Given the description of an element on the screen output the (x, y) to click on. 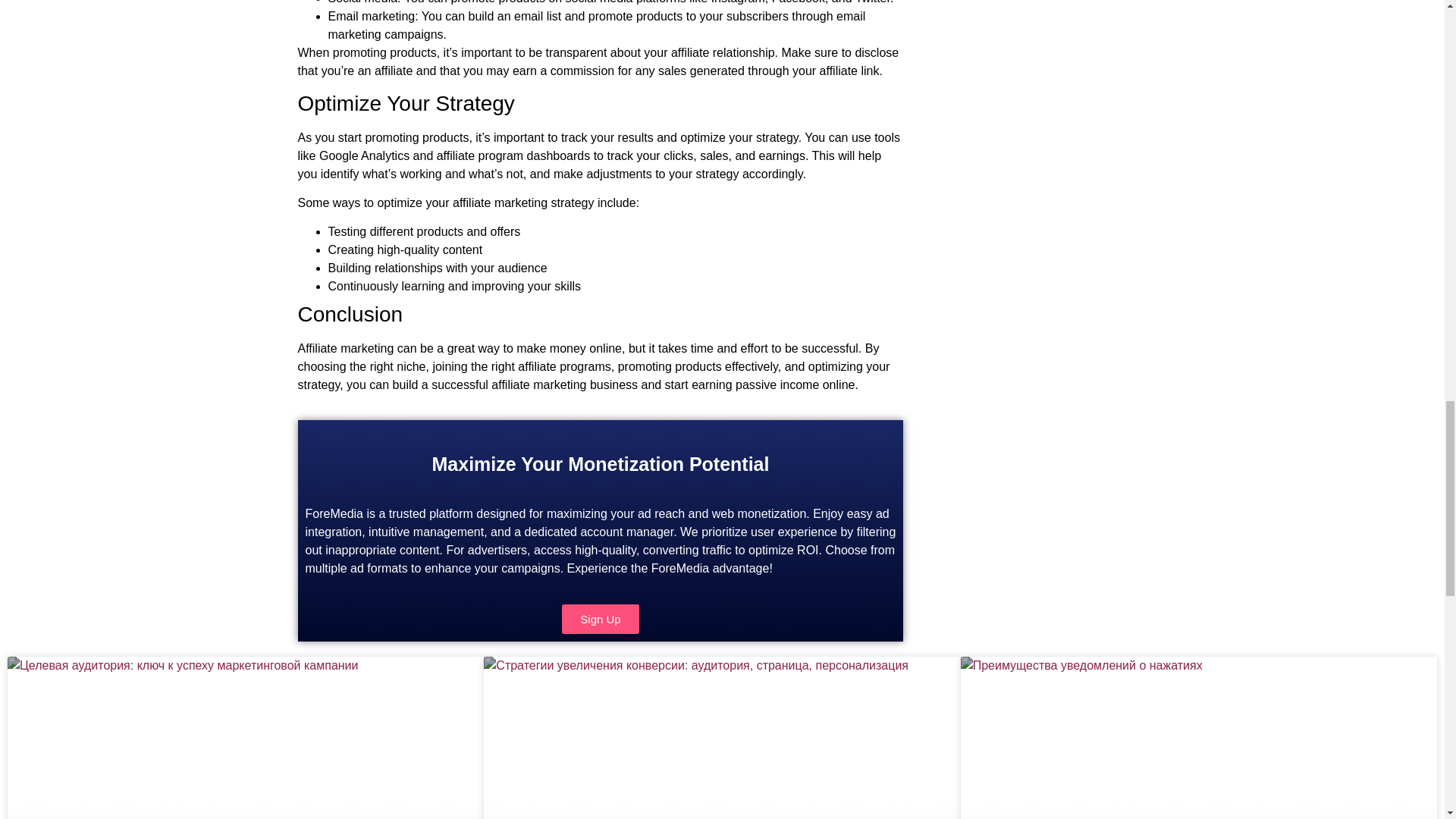
Sign Up (600, 618)
